Given the description of an element on the screen output the (x, y) to click on. 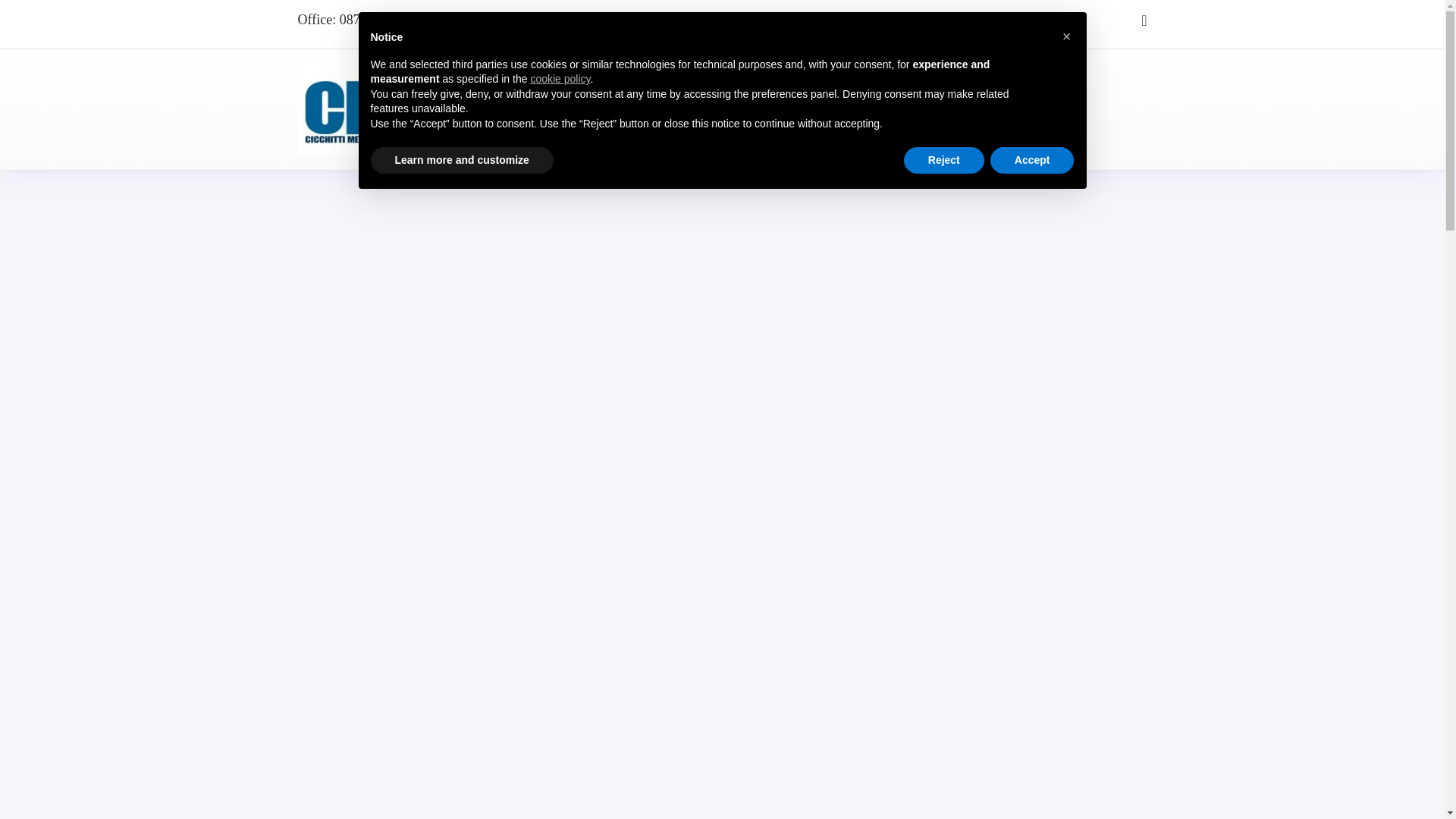
Services (717, 109)
Home (578, 109)
Gallery (868, 109)
News (927, 109)
About Us (644, 109)
Products (786, 109)
Contacts (990, 109)
